Given the description of an element on the screen output the (x, y) to click on. 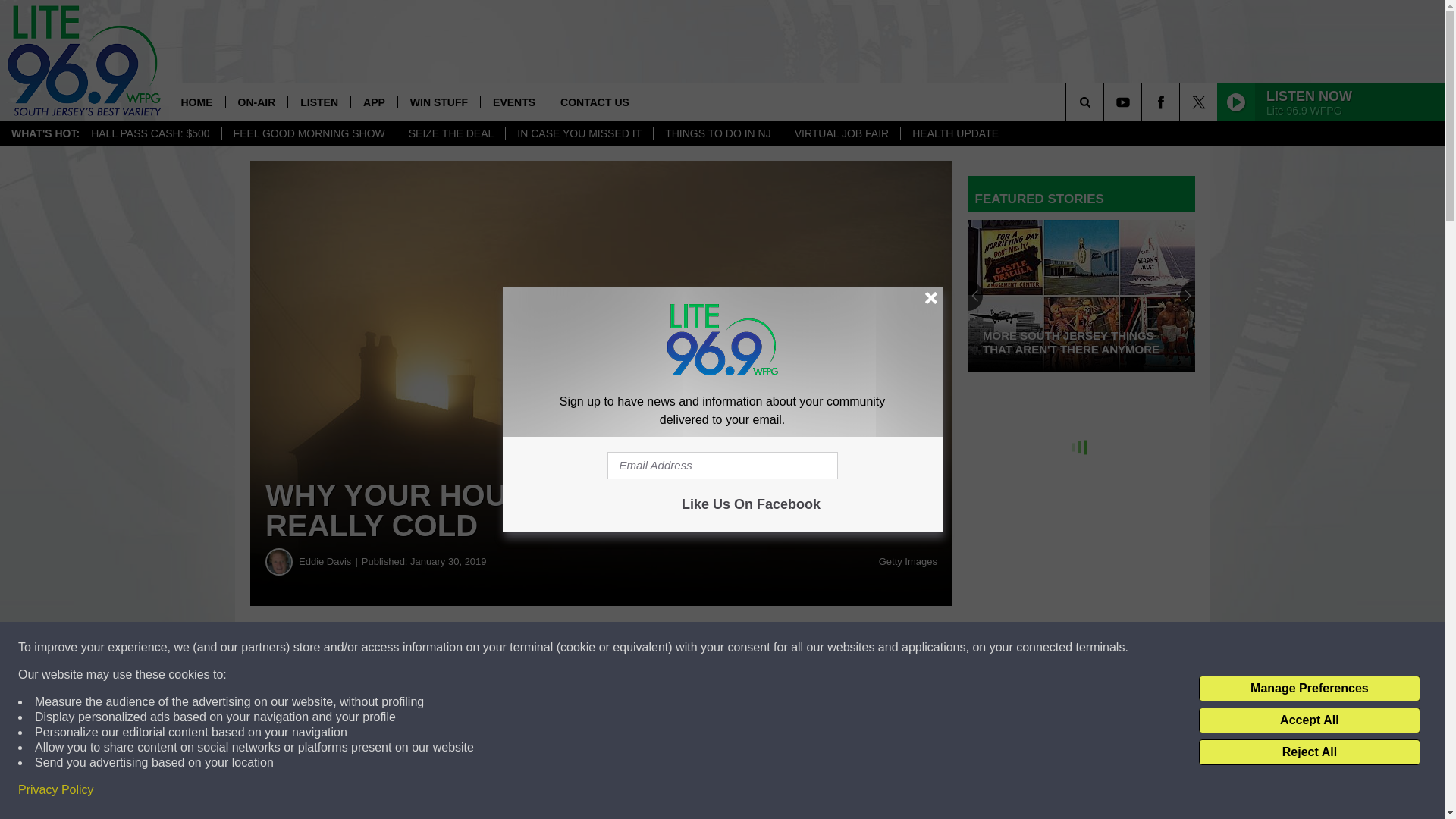
HEALTH UPDATE (954, 133)
Share on Twitter (741, 647)
Reject All (1309, 751)
SEARCH (1106, 102)
SEIZE THE DEAL (450, 133)
IN CASE YOU MISSED IT (578, 133)
Email Address (722, 465)
FEEL GOOD MORNING SHOW (308, 133)
HOME (196, 102)
Privacy Policy (55, 789)
THINGS TO DO IN NJ (717, 133)
APP (373, 102)
Accept All (1309, 720)
Manage Preferences (1309, 688)
LISTEN (318, 102)
